Given the description of an element on the screen output the (x, y) to click on. 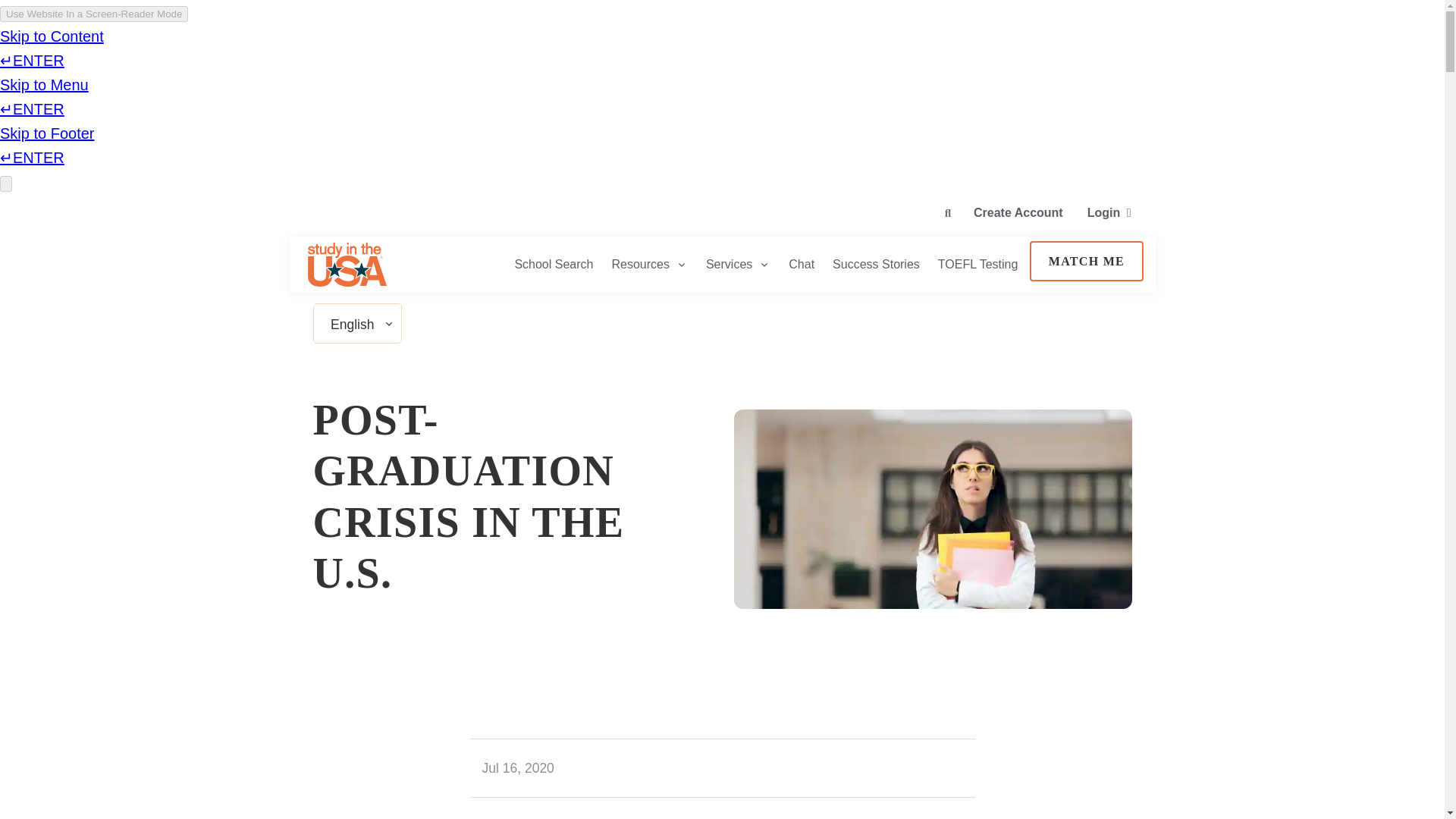
School Search (553, 264)
Success Stories (876, 264)
MATCH ME (1085, 260)
TOEFL Testing (977, 264)
Create Account (1017, 210)
Open search panel. (947, 212)
Services (737, 264)
Login (1108, 210)
English (352, 324)
Resources (648, 264)
